Given the description of an element on the screen output the (x, y) to click on. 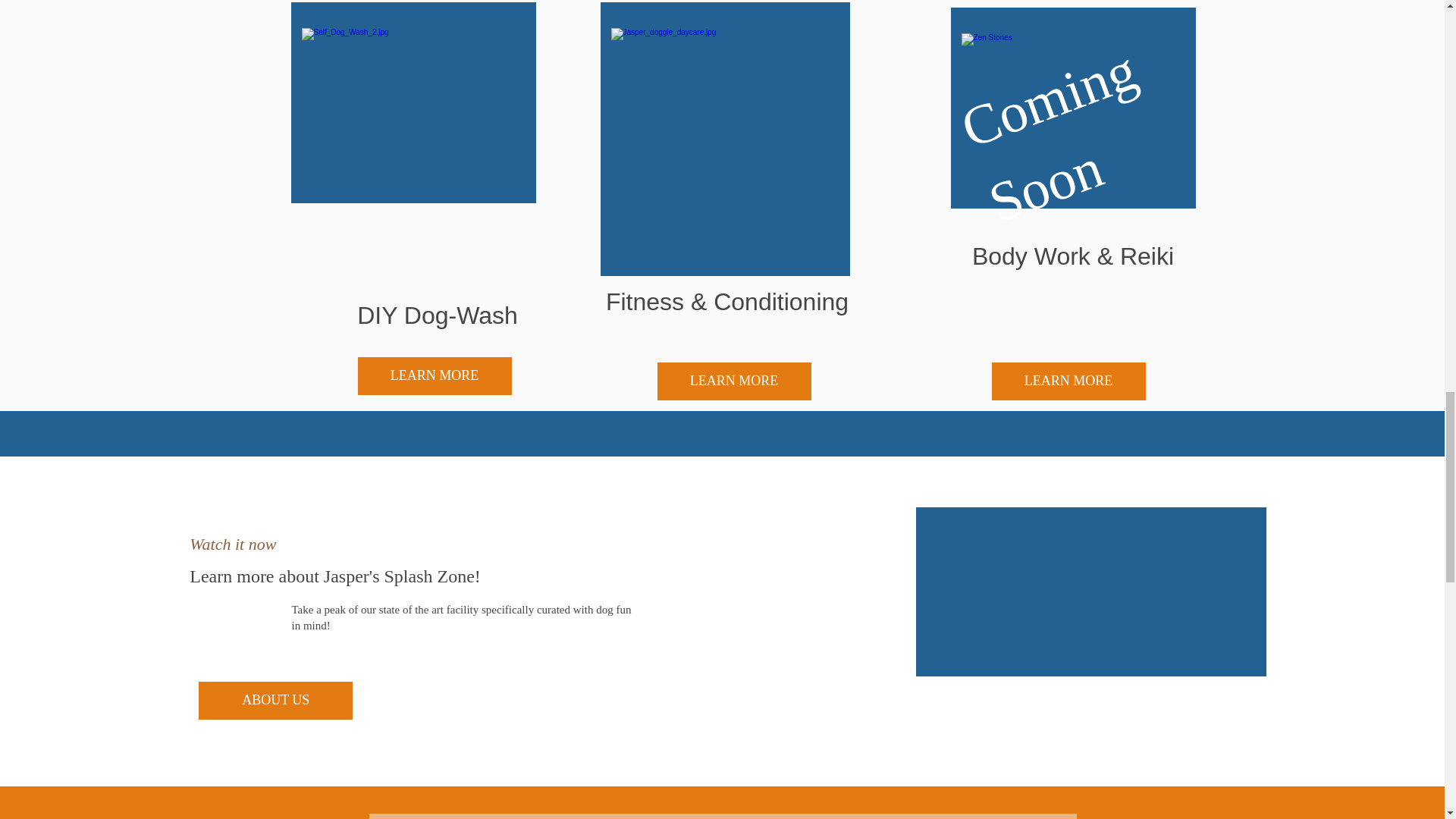
DIY Dog-Wash (437, 315)
ABOUT US (275, 700)
LEARN MORE (435, 375)
LEARN MORE (733, 381)
